Given the description of an element on the screen output the (x, y) to click on. 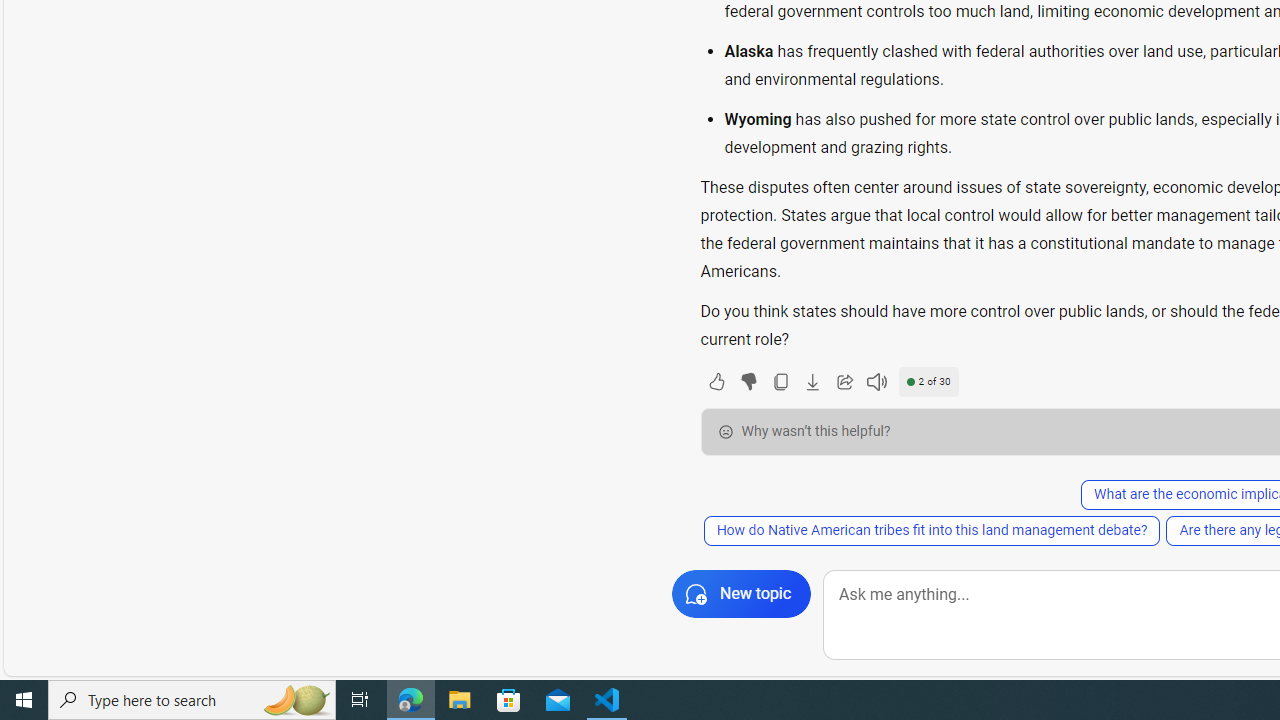
New topic (741, 593)
Read aloud (876, 381)
Export (812, 381)
Copy (780, 381)
Share (844, 381)
